Given the description of an element on the screen output the (x, y) to click on. 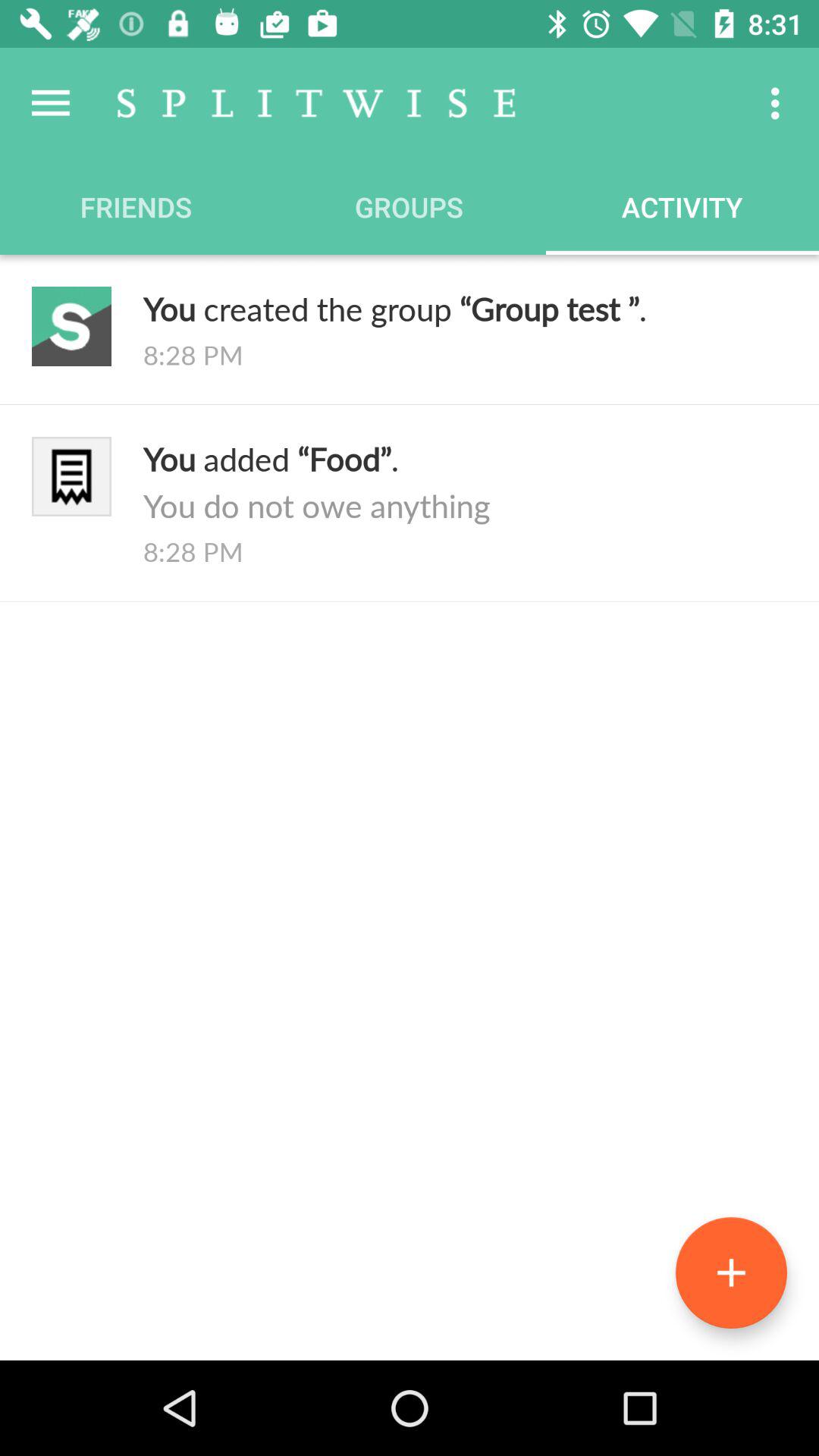
click on the logo which is left to you added food (71, 476)
click on the icon splitwise (316, 102)
click on the icon which is bottom of right corner (731, 1273)
click on the icon with letter s (71, 326)
